Given the description of an element on the screen output the (x, y) to click on. 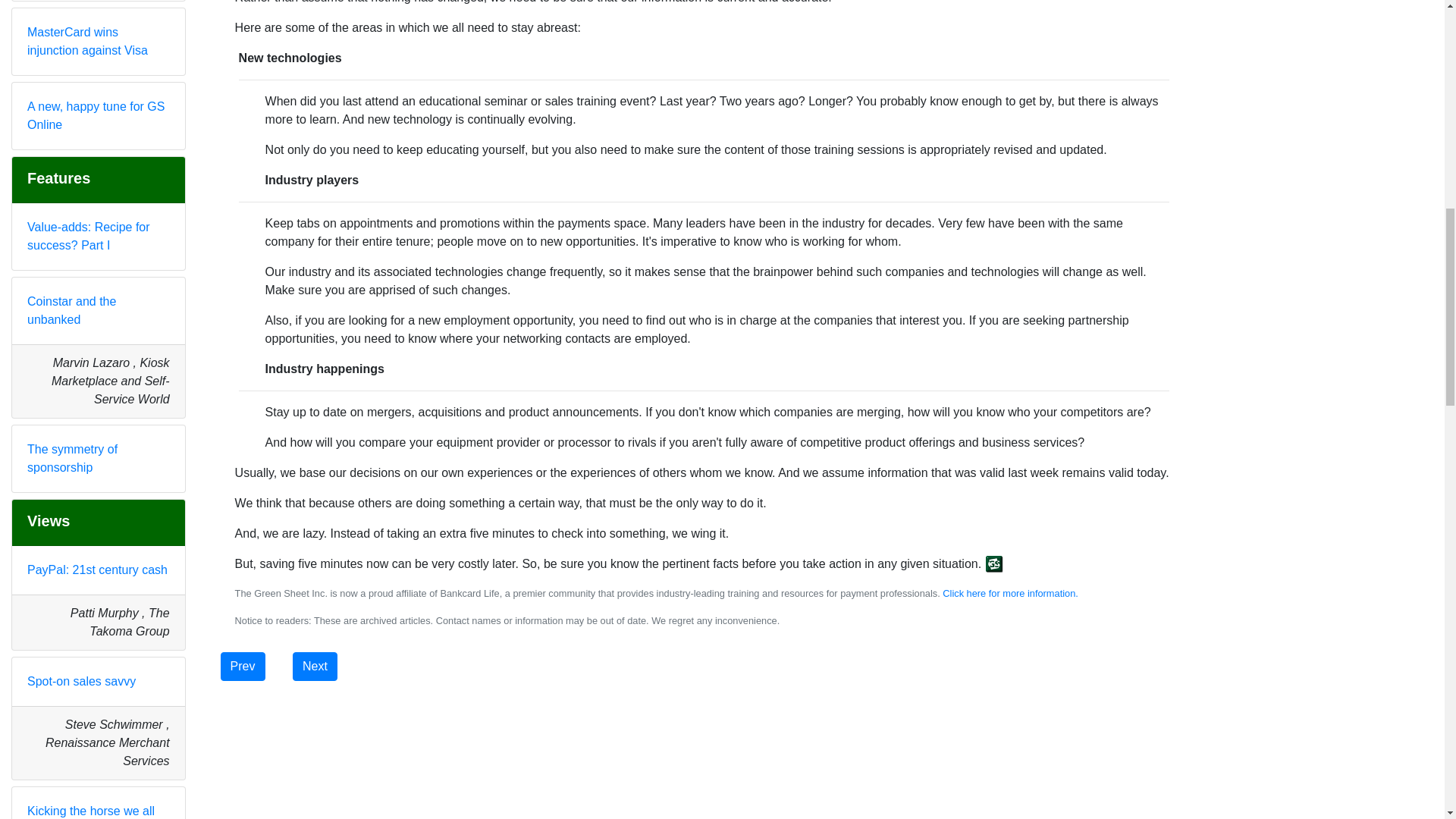
Click here for more information. (1010, 593)
Prev (242, 665)
Next (314, 665)
